Given the description of an element on the screen output the (x, y) to click on. 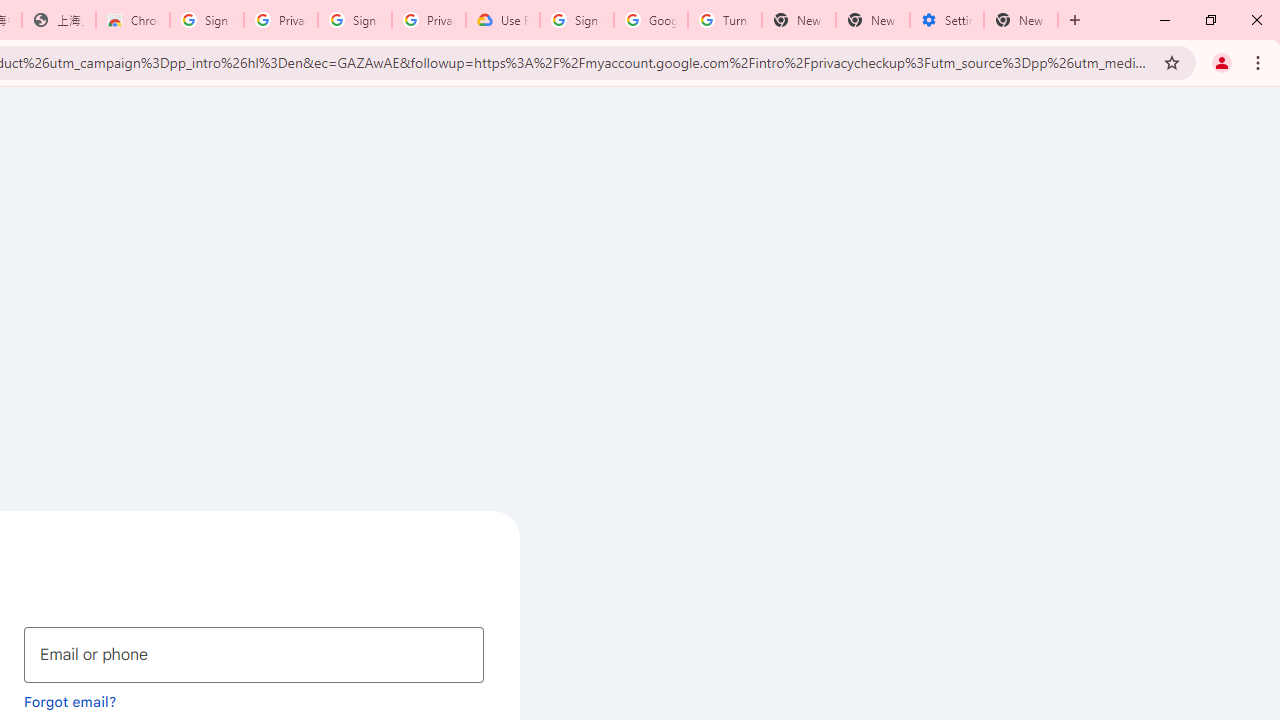
Settings - System (947, 20)
Email or phone (253, 654)
Chrome Web Store - Color themes by Chrome (133, 20)
New Tab (1021, 20)
Sign in - Google Accounts (207, 20)
Turn cookies on or off - Computer - Google Account Help (724, 20)
Sign in - Google Accounts (354, 20)
